Given the description of an element on the screen output the (x, y) to click on. 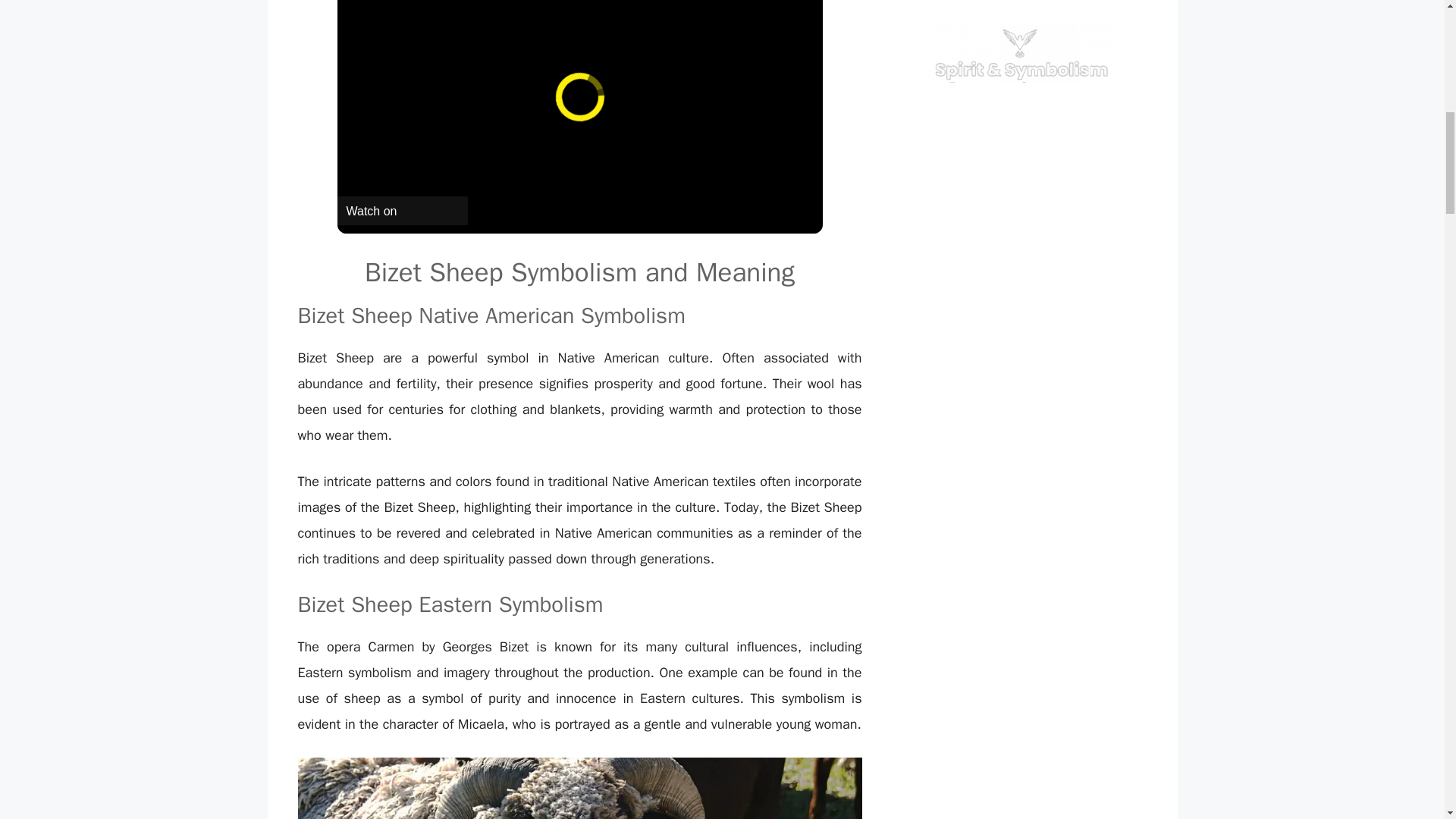
Share (791, 2)
Scroll back to top (1406, 720)
share (791, 2)
Watch on (401, 210)
